Given the description of an element on the screen output the (x, y) to click on. 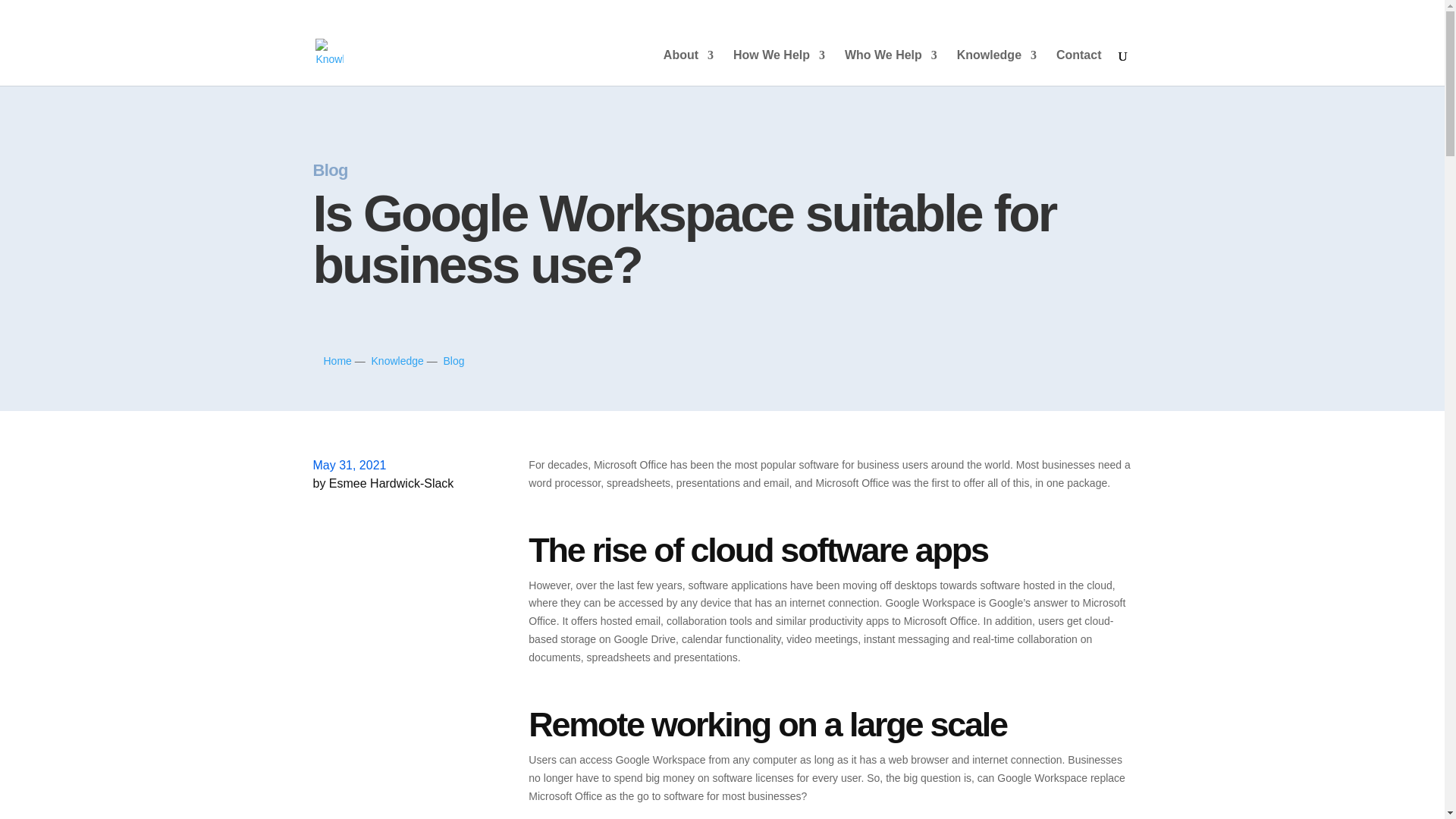
Posts by Esmee Hardwick-Slack (390, 482)
